Given the description of an element on the screen output the (x, y) to click on. 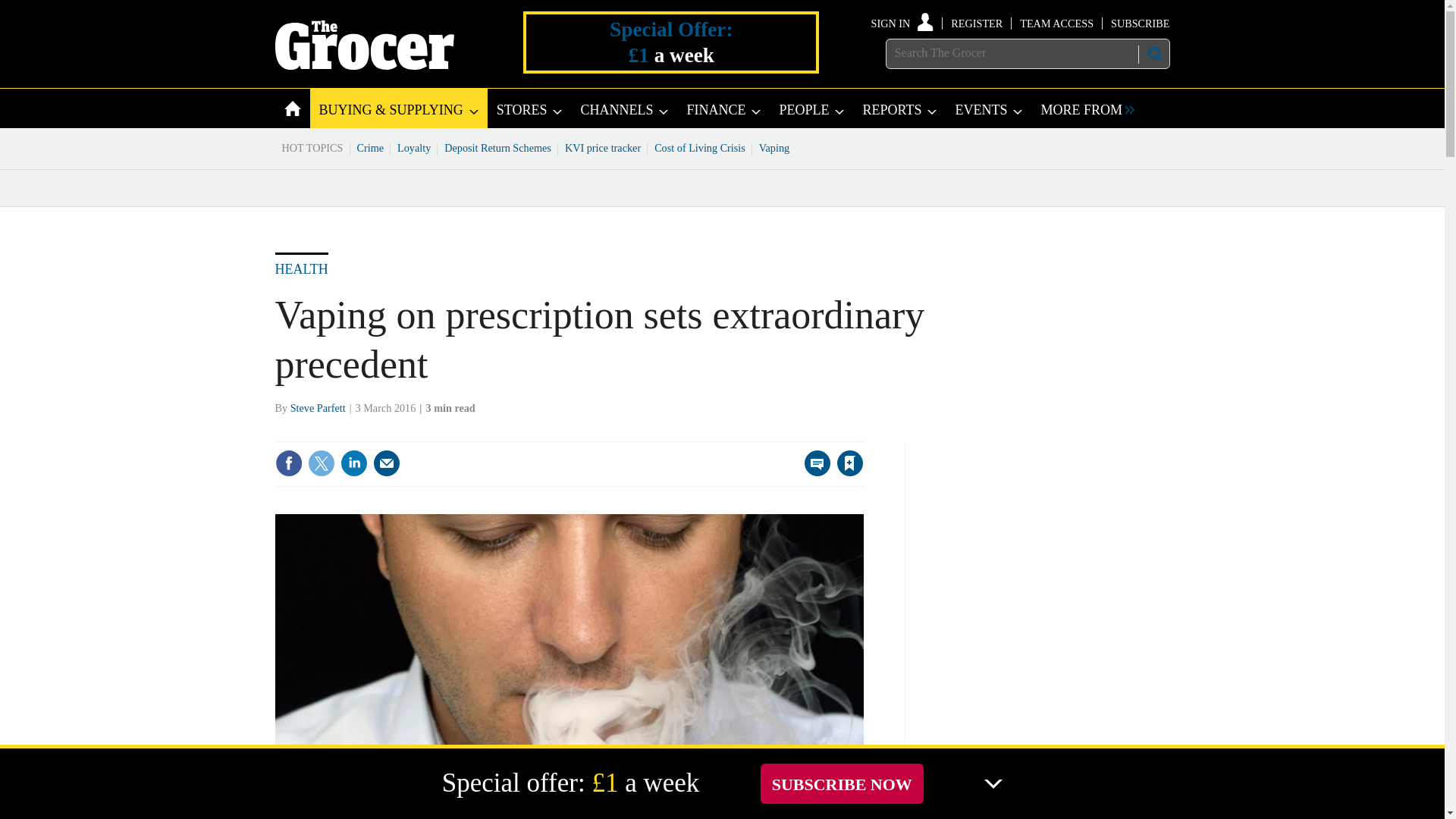
SUBSCRIBE (1139, 23)
TEAM ACCESS (1056, 23)
Site name (363, 65)
SEARCH (1153, 53)
Email this article (386, 462)
Loyalty (414, 147)
Vaping (774, 147)
KVI price tracker (602, 147)
Crime (370, 147)
Cost of Living Crisis (699, 147)
No comments (812, 472)
Share this on Twitter (320, 462)
Deposit Return Schemes (497, 147)
Share this on Facebook (288, 462)
REGISTER (976, 23)
